Given the description of an element on the screen output the (x, y) to click on. 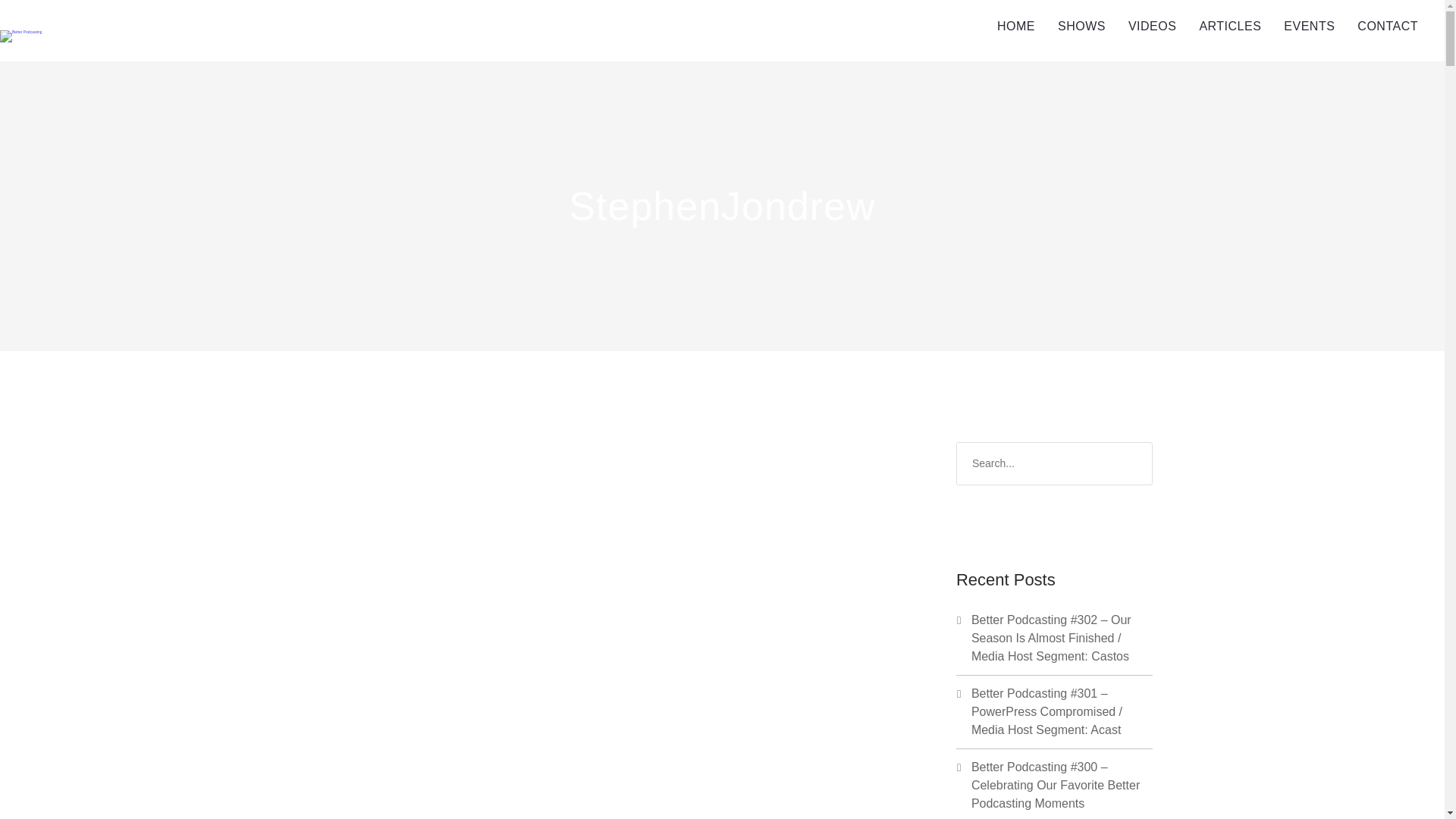
SHOWS (1081, 26)
EVENTS (1308, 26)
ARTICLES (1230, 26)
HOME (1015, 26)
VIDEOS (1152, 26)
CONTACT (1387, 26)
